Given the description of an element on the screen output the (x, y) to click on. 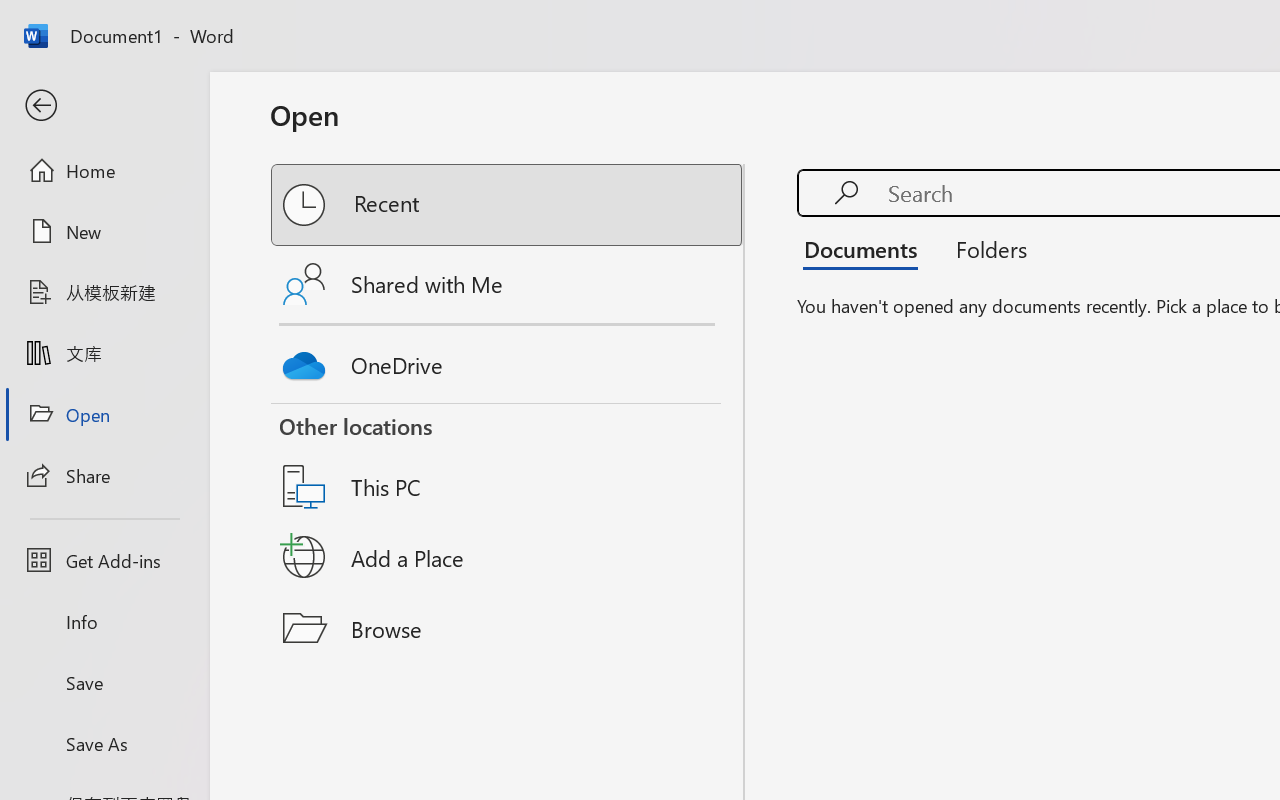
Add a Place (507, 557)
Documents (866, 248)
This PC (507, 461)
OneDrive (507, 359)
Info (104, 621)
Folders (984, 248)
Back (104, 106)
Shared with Me (507, 283)
Get Add-ins (104, 560)
